Given the description of an element on the screen output the (x, y) to click on. 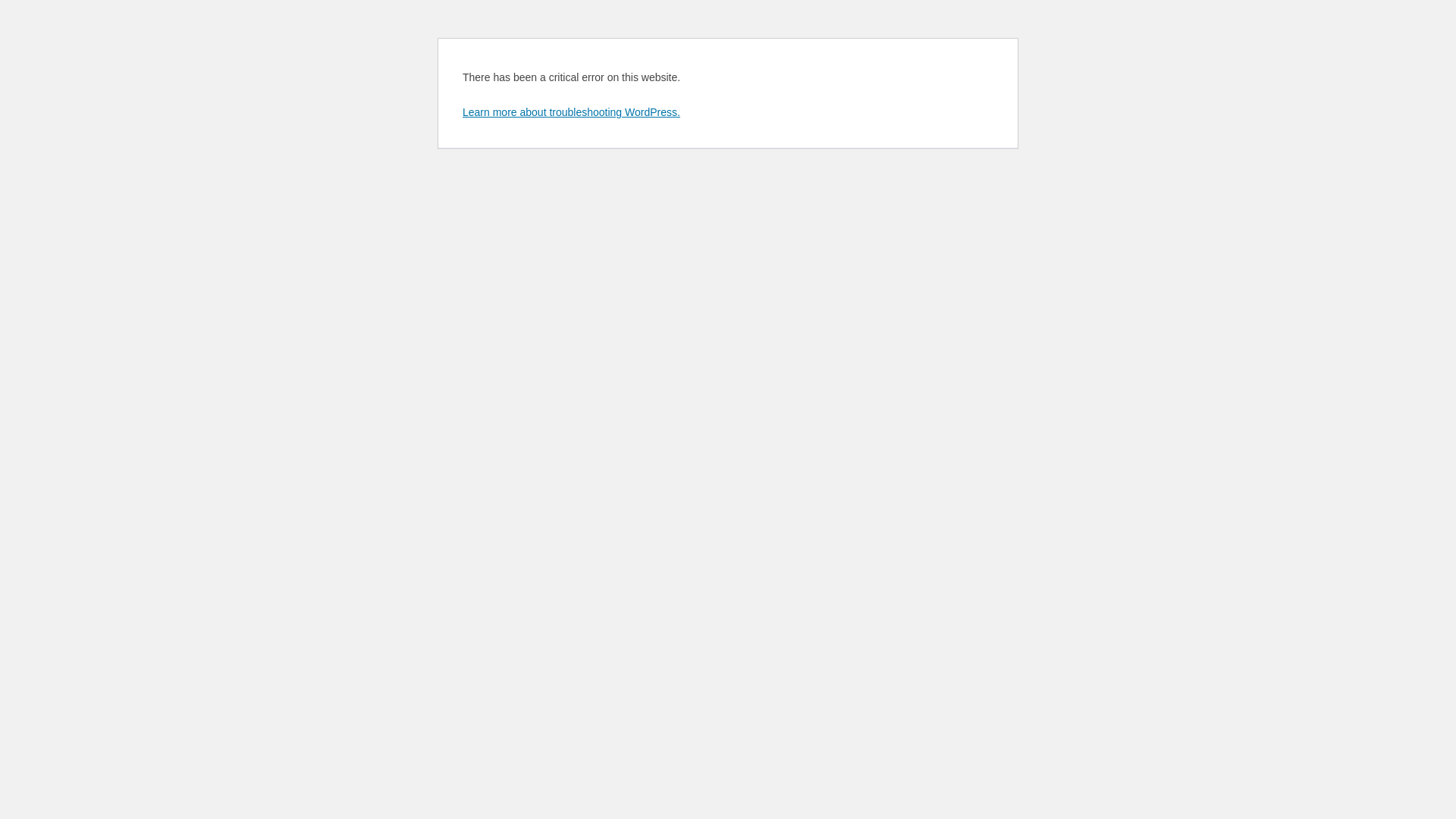
Learn more about troubleshooting WordPress. Element type: text (571, 112)
